Given the description of an element on the screen output the (x, y) to click on. 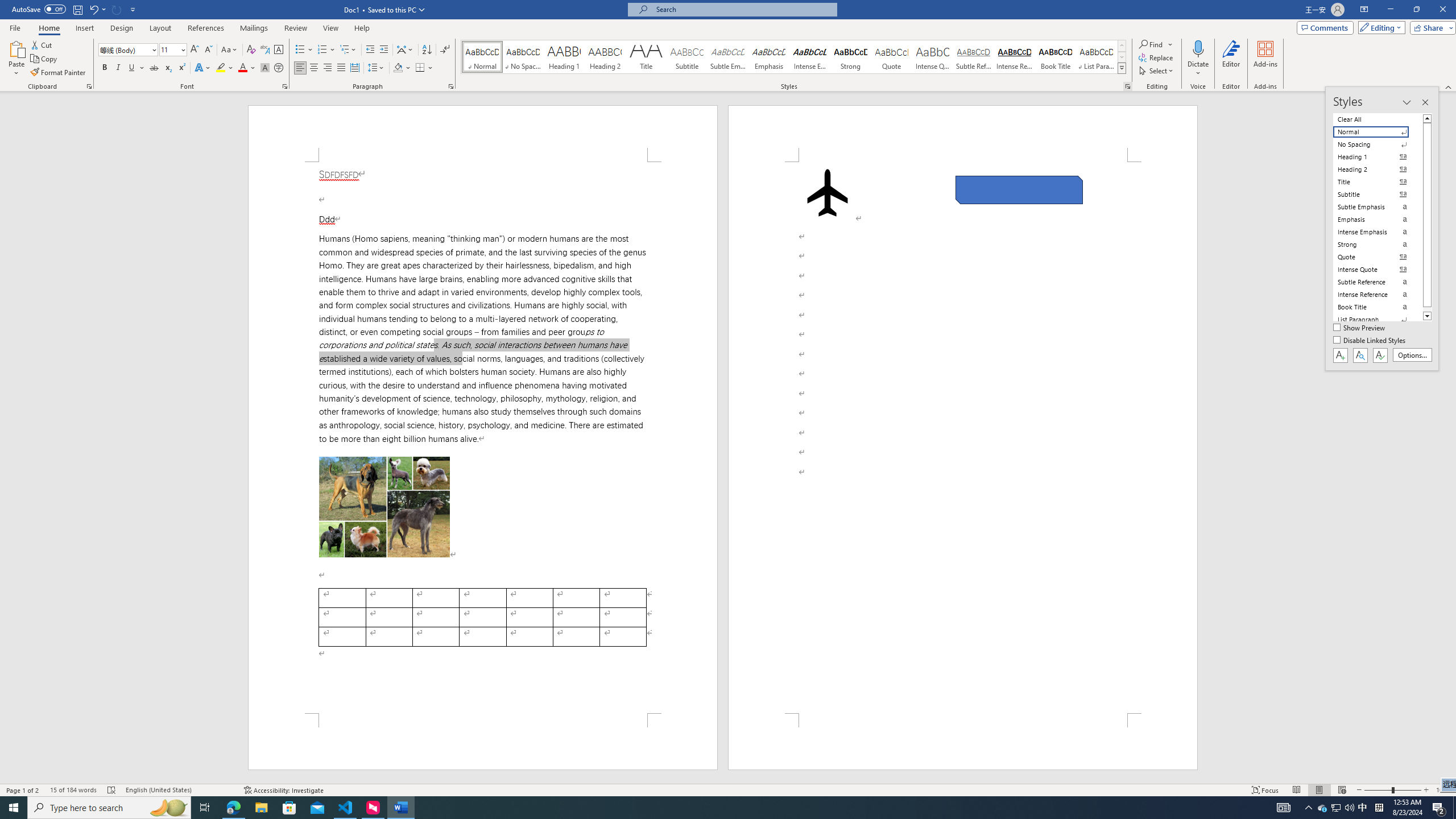
Asian Layout (405, 49)
Web Layout (1342, 790)
Shading (402, 67)
Justify (340, 67)
Styles (1121, 67)
Text Highlight Color Yellow (220, 67)
Font Size (172, 49)
Page 2 content (963, 437)
Strong (849, 56)
Design (122, 28)
Copy (45, 58)
Numbering (326, 49)
Zoom (1392, 790)
Class: NetUIButton (1380, 355)
Align Left (300, 67)
